Given the description of an element on the screen output the (x, y) to click on. 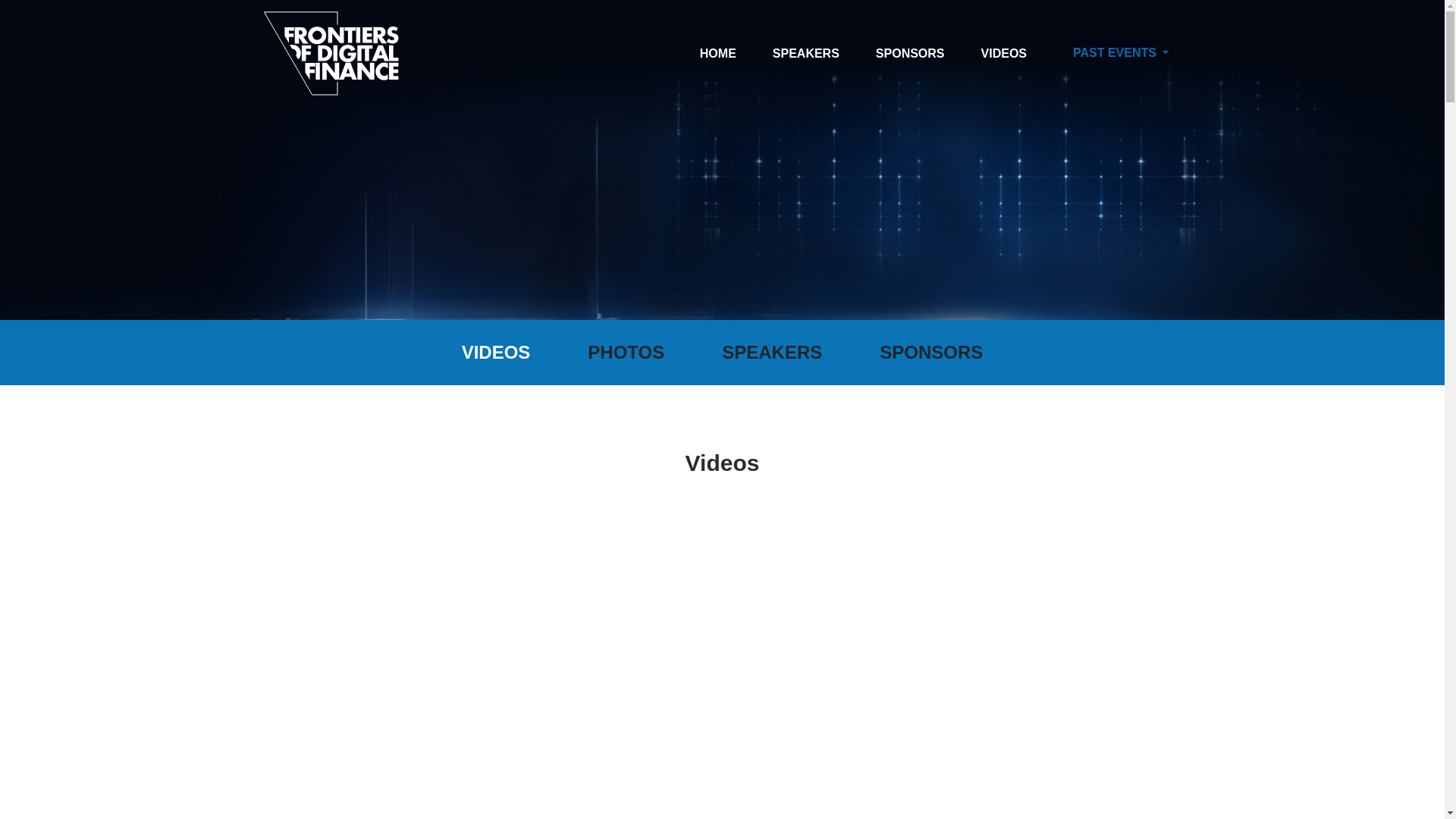
VIDEOS (1003, 52)
SPONSORS (930, 352)
SPEAKERS (806, 52)
PAST EVENTS (1121, 51)
Frontiers Of Digital Finance (330, 53)
SPEAKERS (771, 352)
PHOTOS (626, 352)
HOME (718, 52)
VIDEOS (495, 352)
SPONSORS (910, 52)
